Given the description of an element on the screen output the (x, y) to click on. 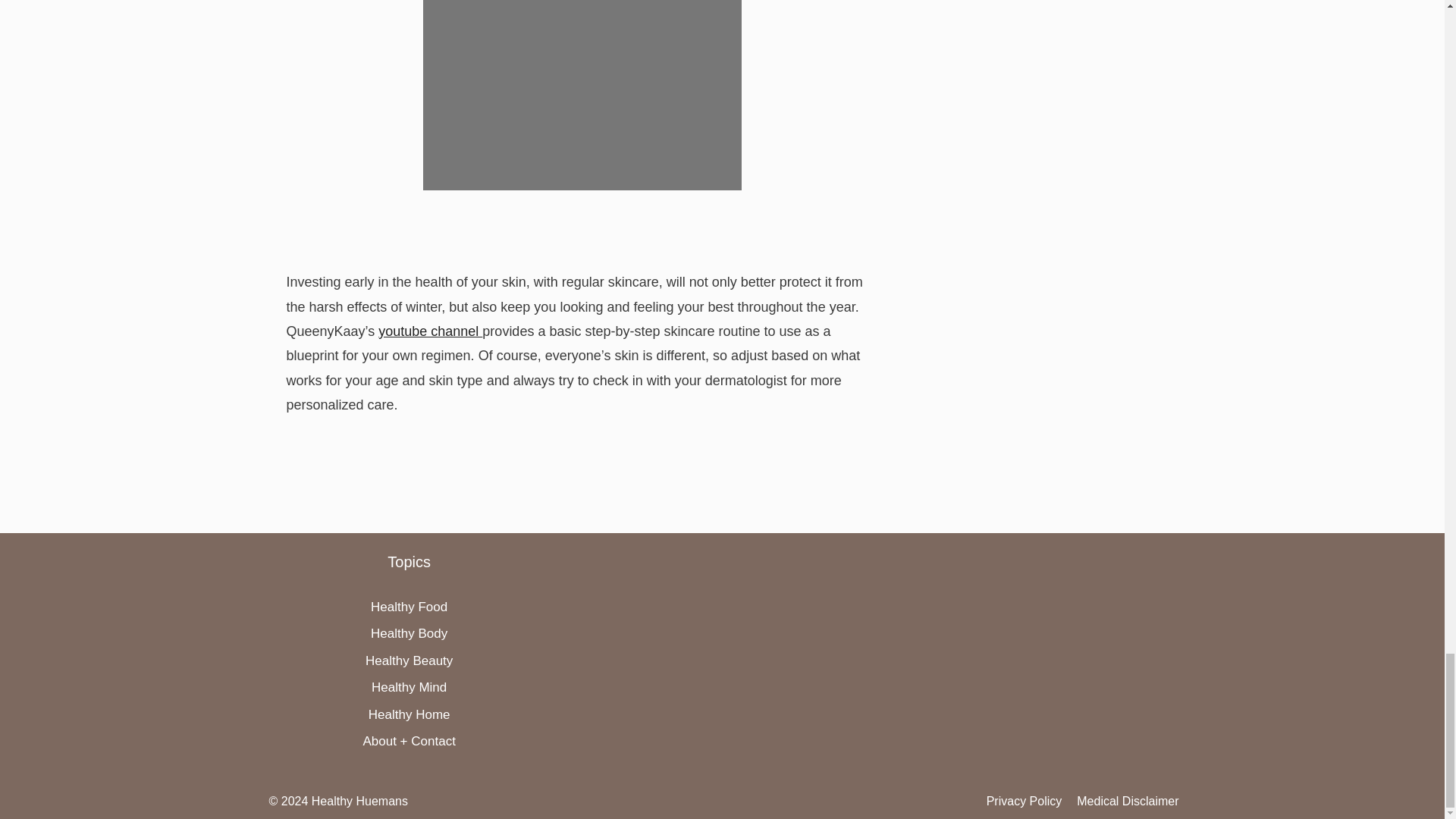
Medical Disclaimer (1127, 800)
Healthy Home (408, 714)
youtube channel (429, 331)
Healthy Beauty (408, 660)
Healthy Mind (408, 687)
Healthy Body (408, 633)
Privacy Policy (1024, 800)
Healthy Food (408, 606)
